Given the description of an element on the screen output the (x, y) to click on. 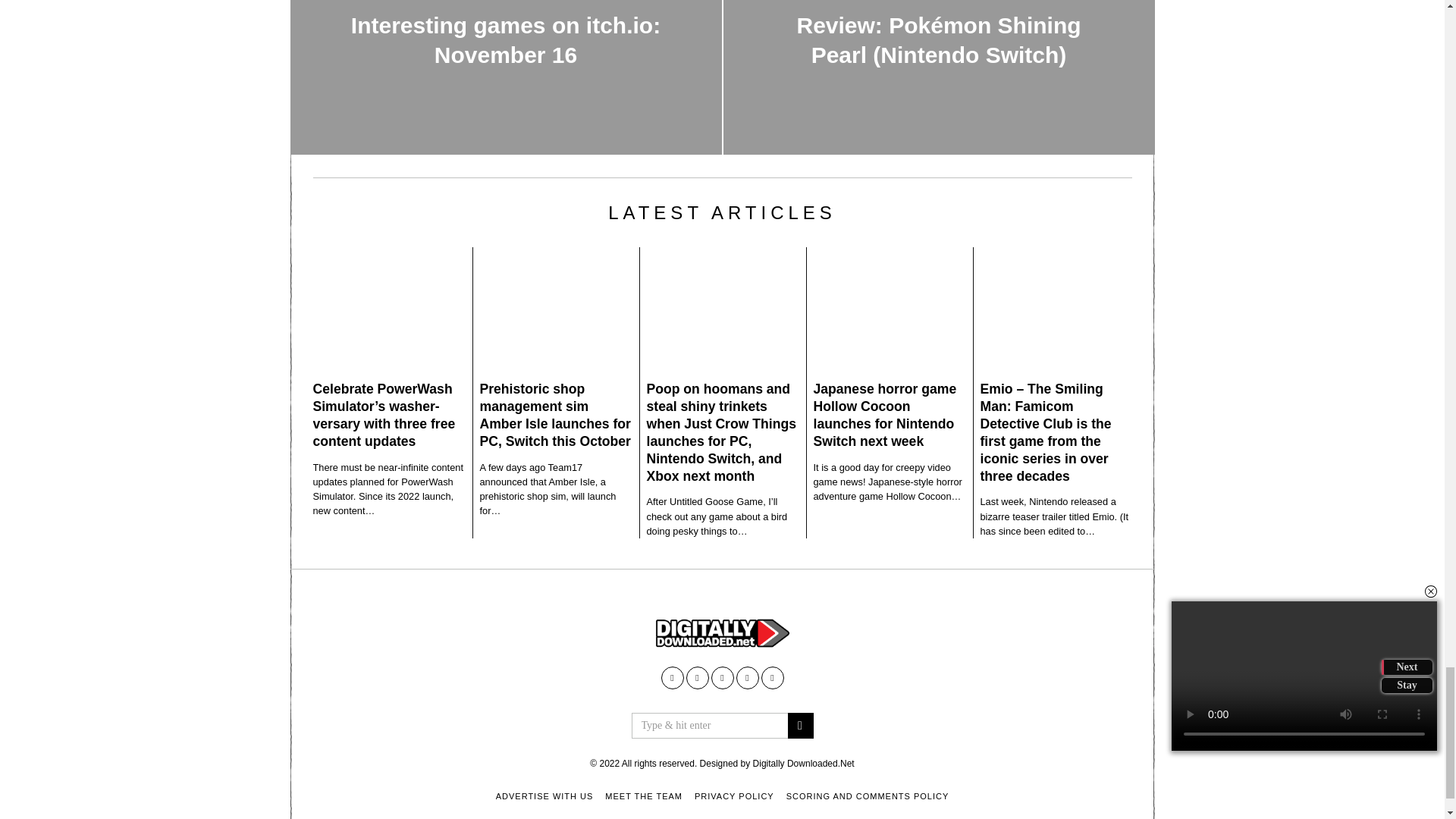
Discord (772, 677)
Patreon (746, 677)
Go (799, 725)
Facebook (672, 677)
YouTube (696, 677)
itch.io (722, 677)
